Given the description of an element on the screen output the (x, y) to click on. 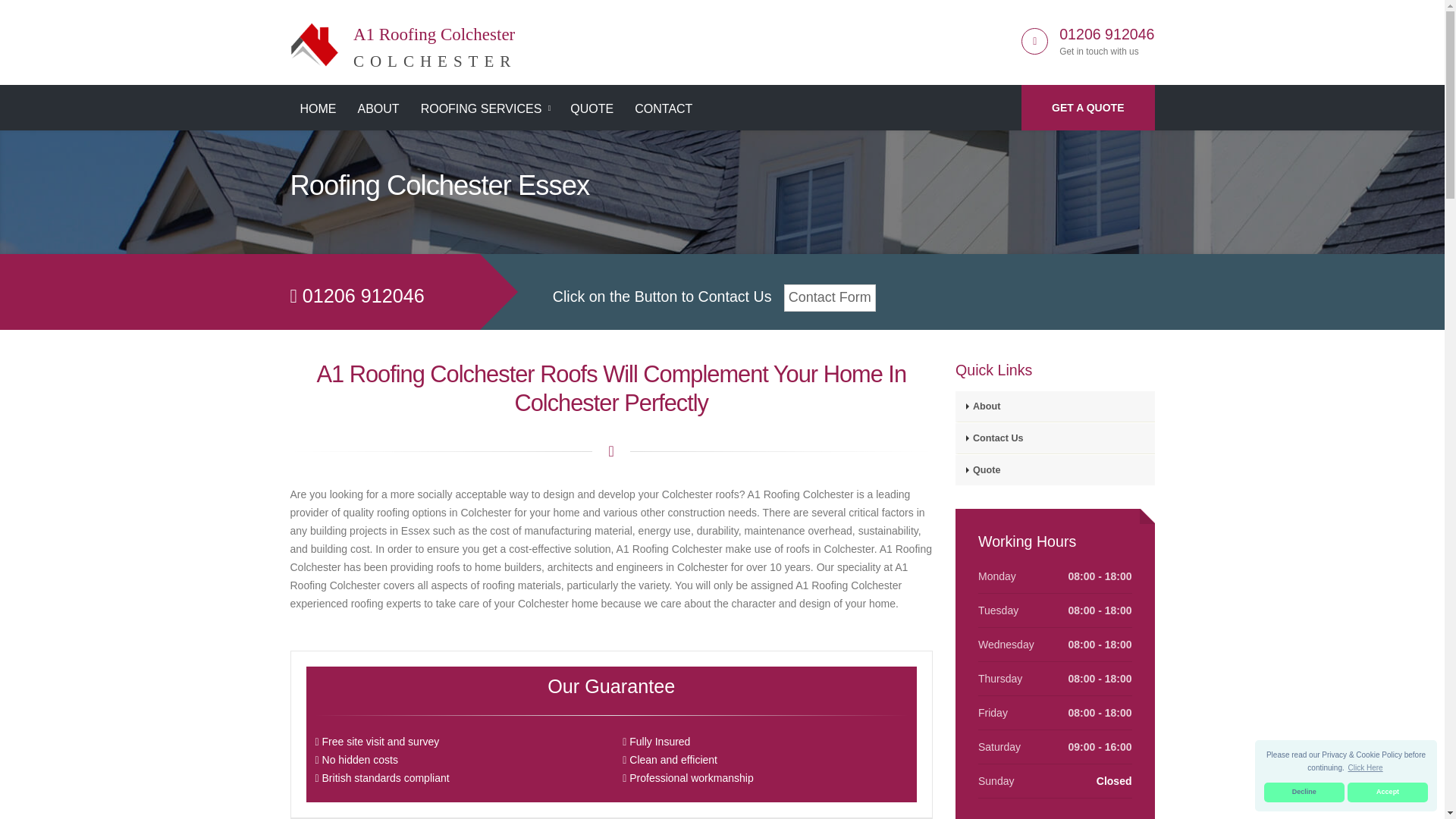
ROOFING SERVICES (484, 109)
Accept (1388, 792)
QUOTE (591, 109)
Decline (402, 38)
GET A QUOTE (1303, 792)
ABOUT (1088, 107)
HOME (378, 109)
Click Here (317, 109)
01206 912046 (1365, 767)
